Given the description of an element on the screen output the (x, y) to click on. 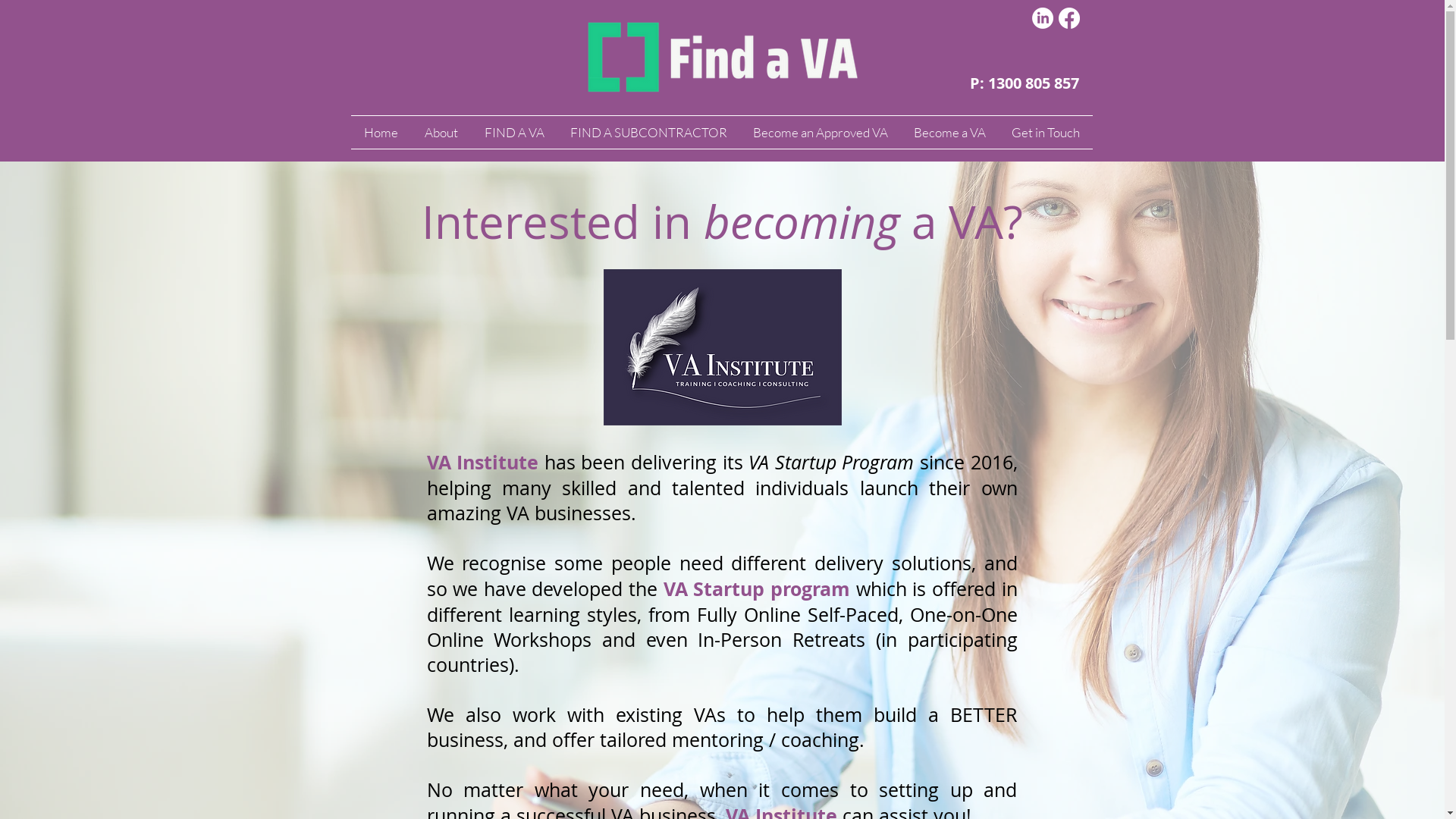
FIND A SUBCONTRACTOR Element type: text (647, 132)
Become an Approved VA Element type: text (820, 132)
About Element type: text (440, 132)
Home Element type: text (380, 132)
FIND A VA Element type: text (514, 132)
Get in Touch Element type: text (1044, 132)
Become a VA Element type: text (949, 132)
P: 1300 805 857 Element type: text (1023, 82)
